Given the description of an element on the screen output the (x, y) to click on. 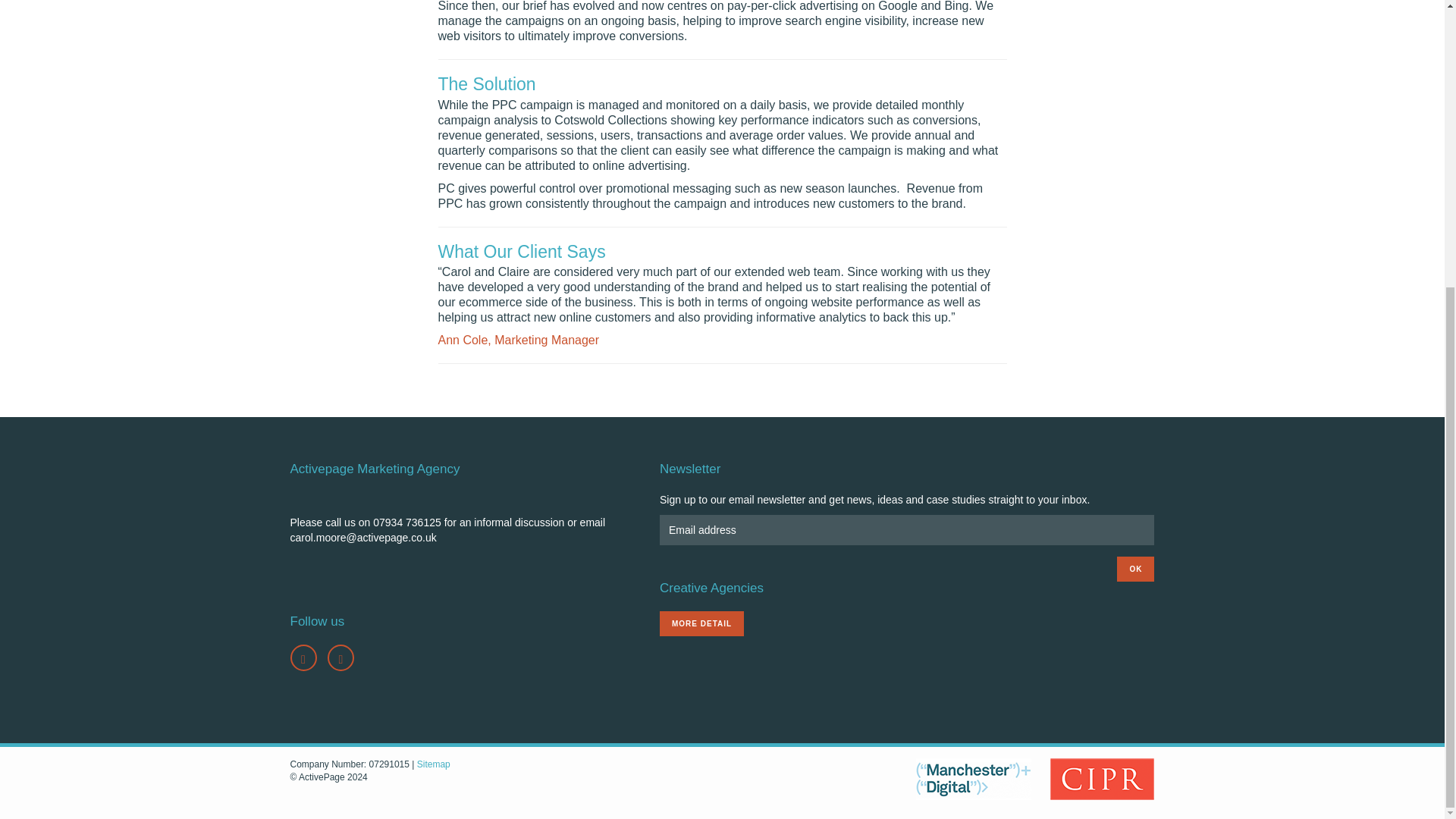
MORE DETAIL (701, 623)
Sitemap (432, 764)
OK (1135, 568)
